Given the description of an element on the screen output the (x, y) to click on. 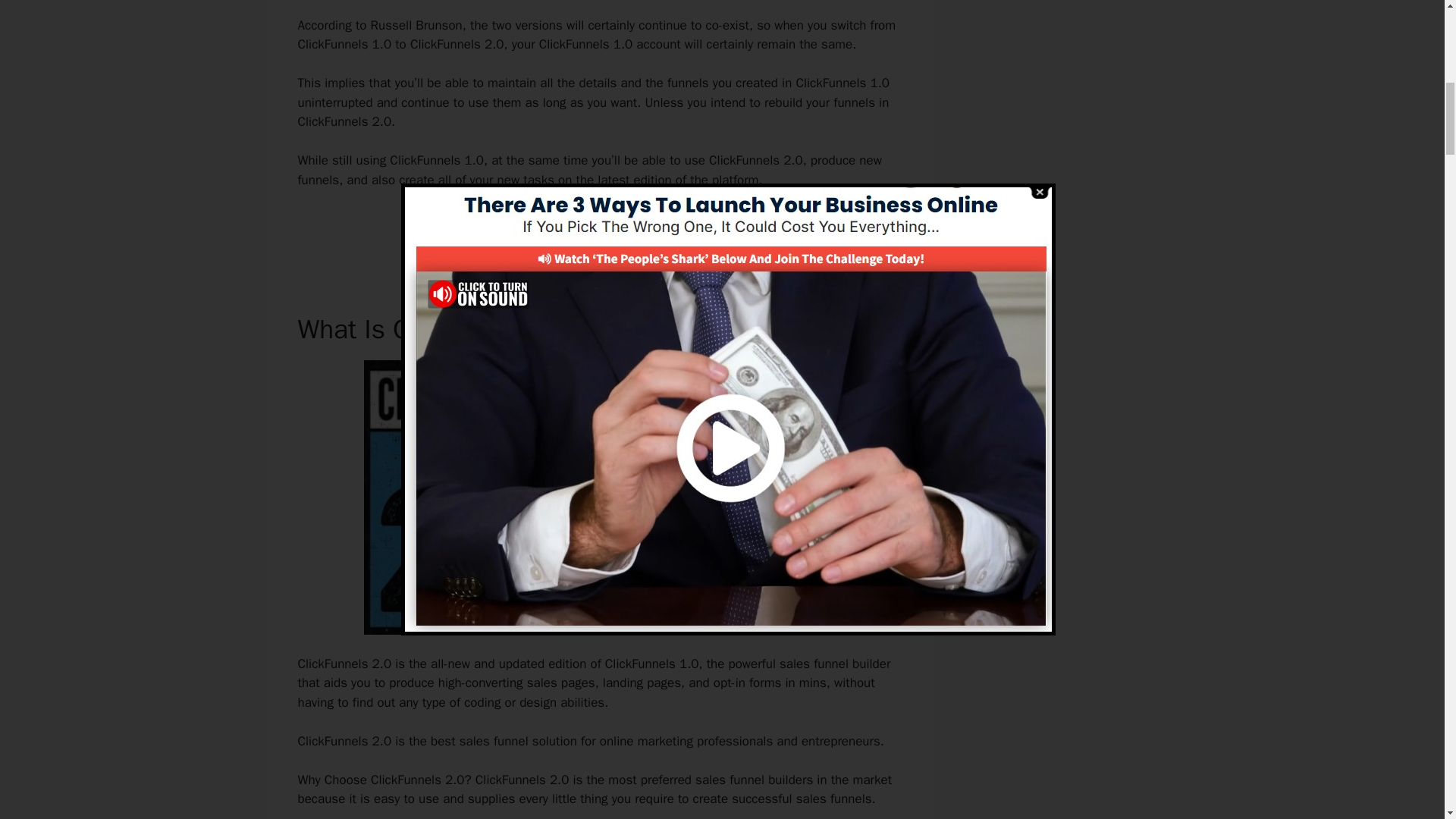
Go Here To Learn More On CF.2.0 (600, 232)
